Given the description of an element on the screen output the (x, y) to click on. 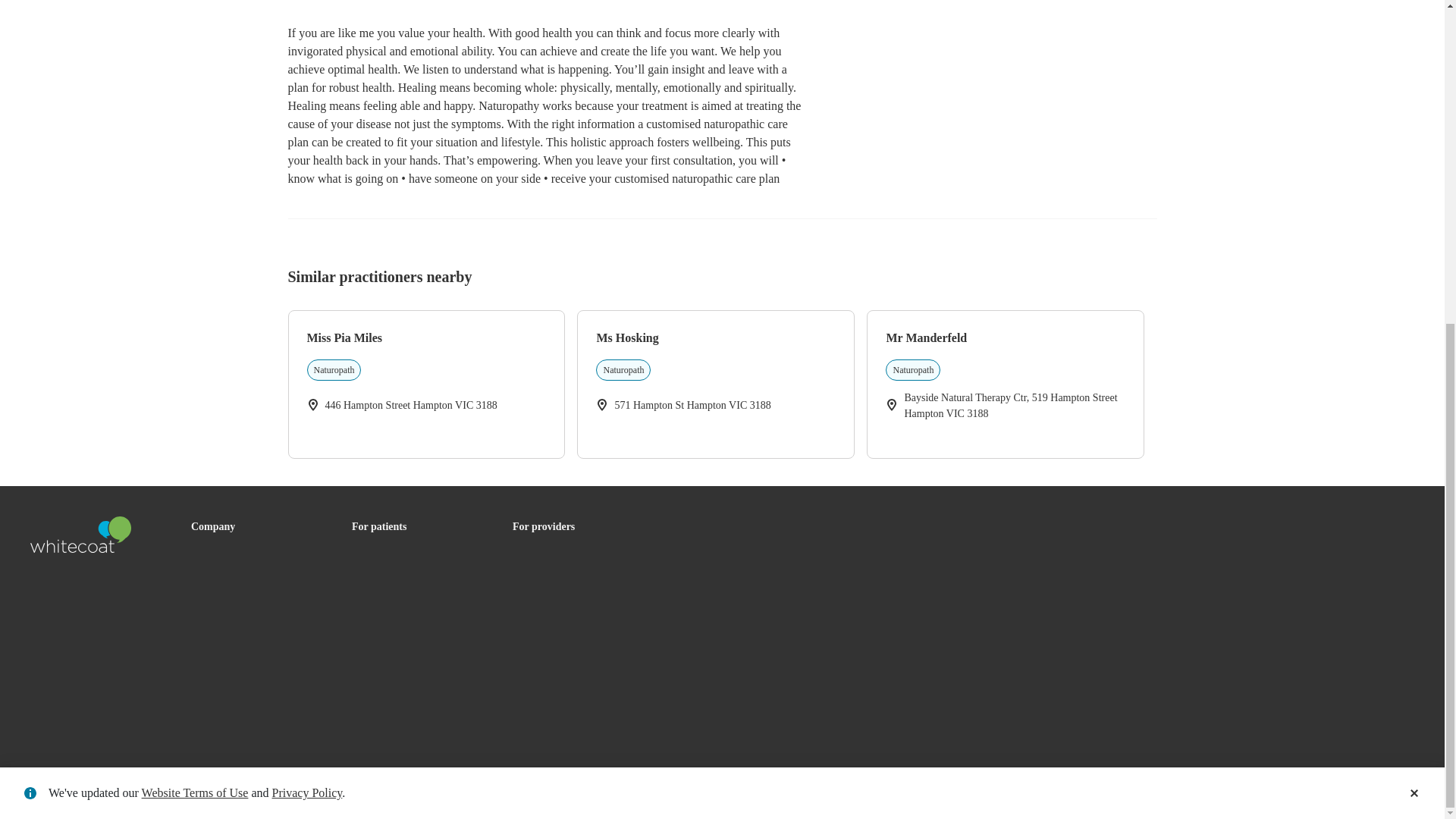
Company (212, 536)
Website Terms of Use (194, 263)
For patients (379, 536)
Privacy Policy (715, 374)
